Given the description of an element on the screen output the (x, y) to click on. 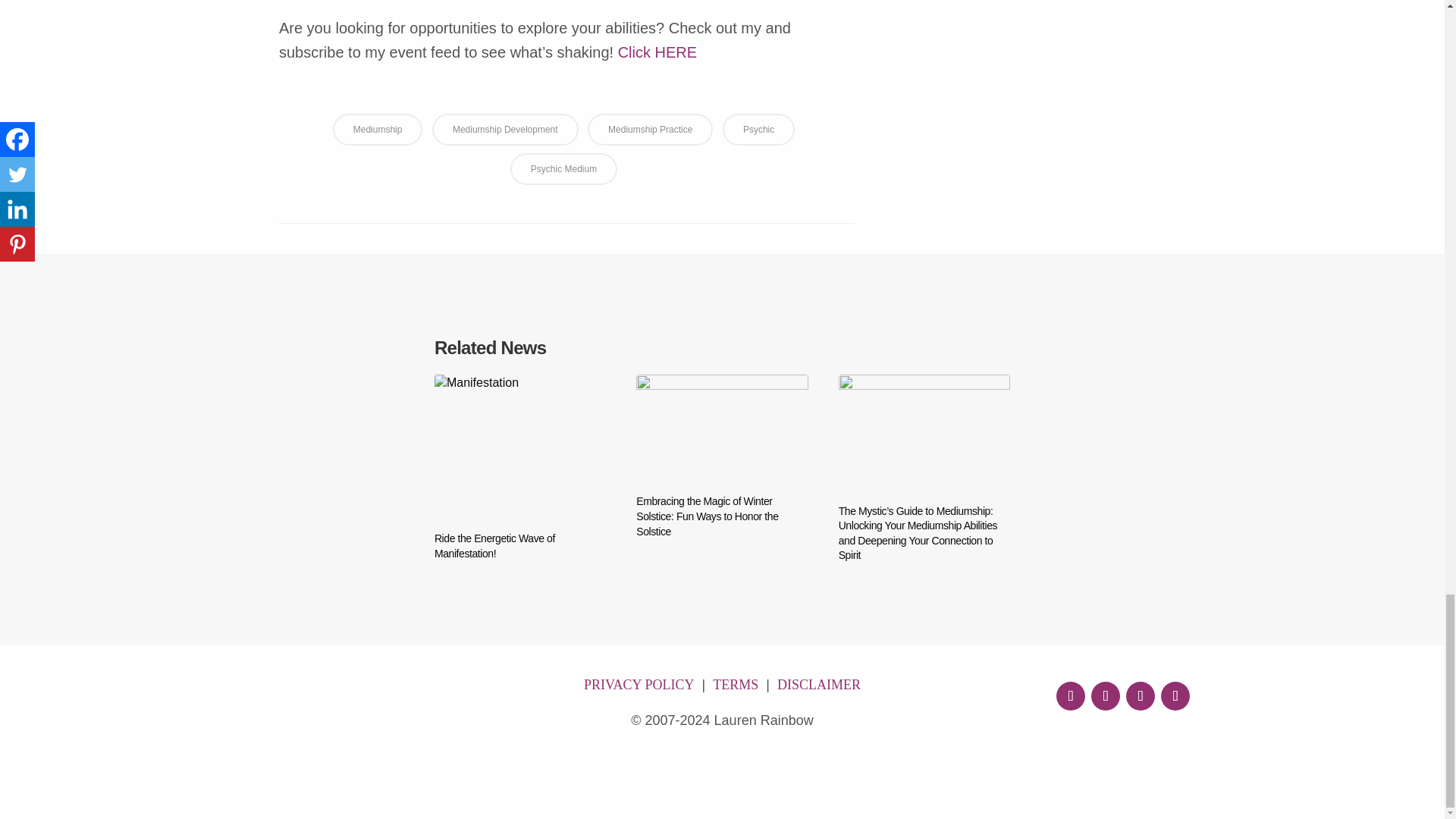
Mediumship Development (505, 129)
Psychic (758, 129)
Psychic Medium (564, 169)
Ride the Energetic Wave of Manifestation! (519, 546)
Mediumship (378, 129)
Mediumship Practice (650, 129)
Click HERE  (659, 52)
